Given the description of an element on the screen output the (x, y) to click on. 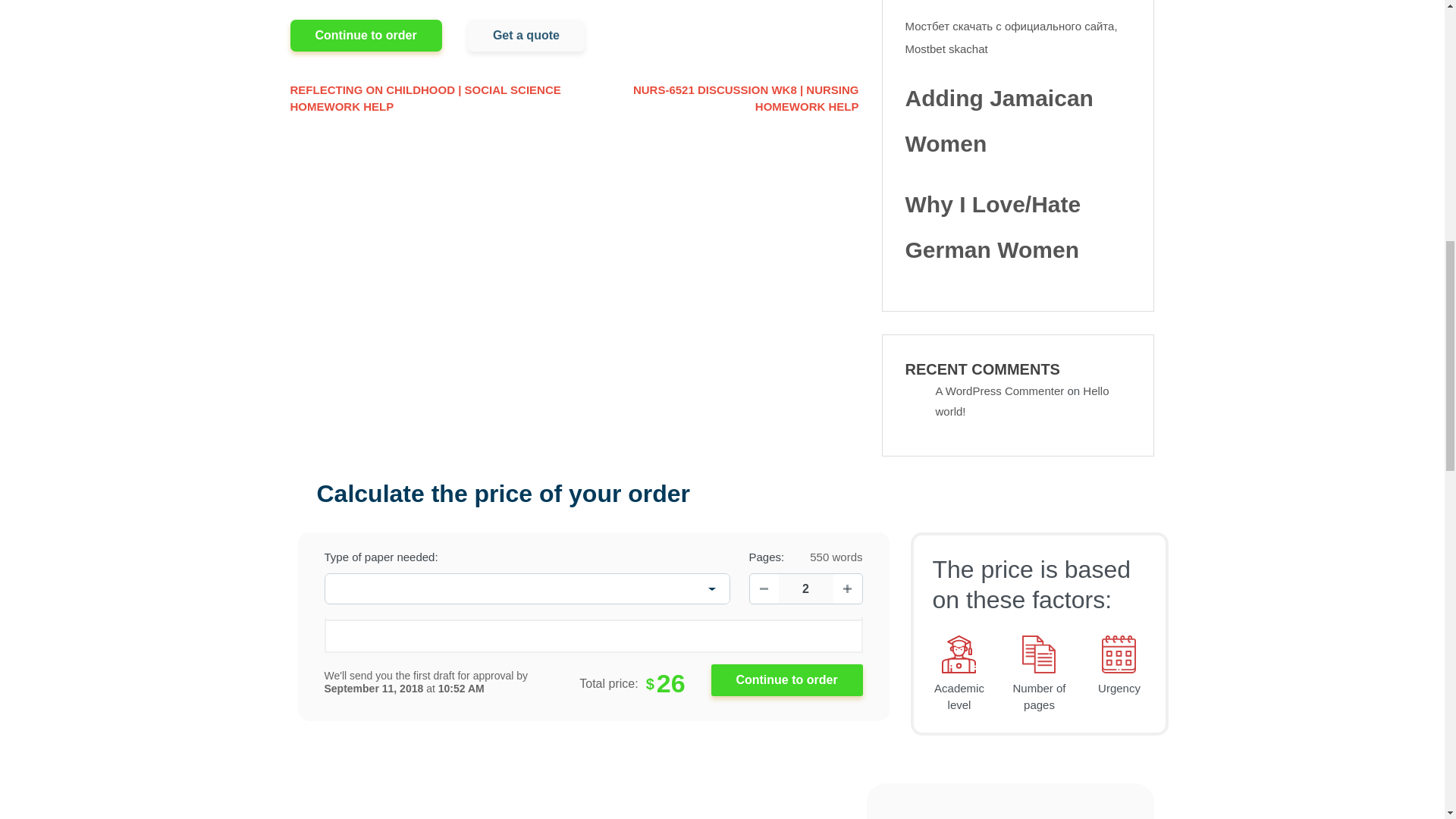
Get a quote (526, 35)
A WordPress Commenter (1000, 390)
Decrease (763, 588)
Adding Jamaican Women (1018, 121)
Continue to order (787, 680)
Hello world! (1022, 400)
Continue to Order (787, 680)
2 (804, 588)
Increase (846, 588)
Continue to order (787, 680)
Continue to order (365, 35)
